Given the description of an element on the screen output the (x, y) to click on. 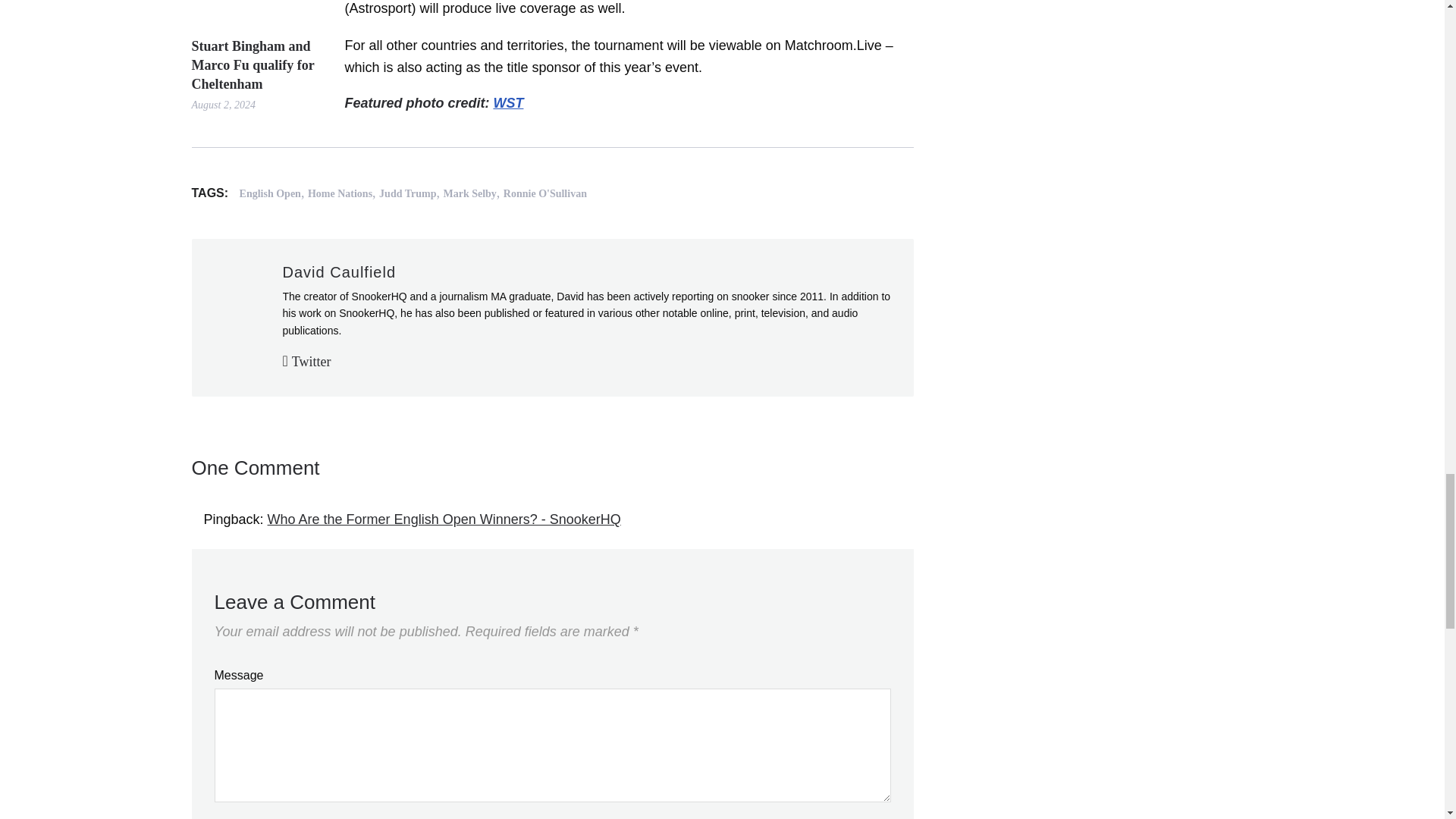
Posts by David Caulfield (339, 271)
Follow David Caulfield on Twitter (306, 361)
